Given the description of an element on the screen output the (x, y) to click on. 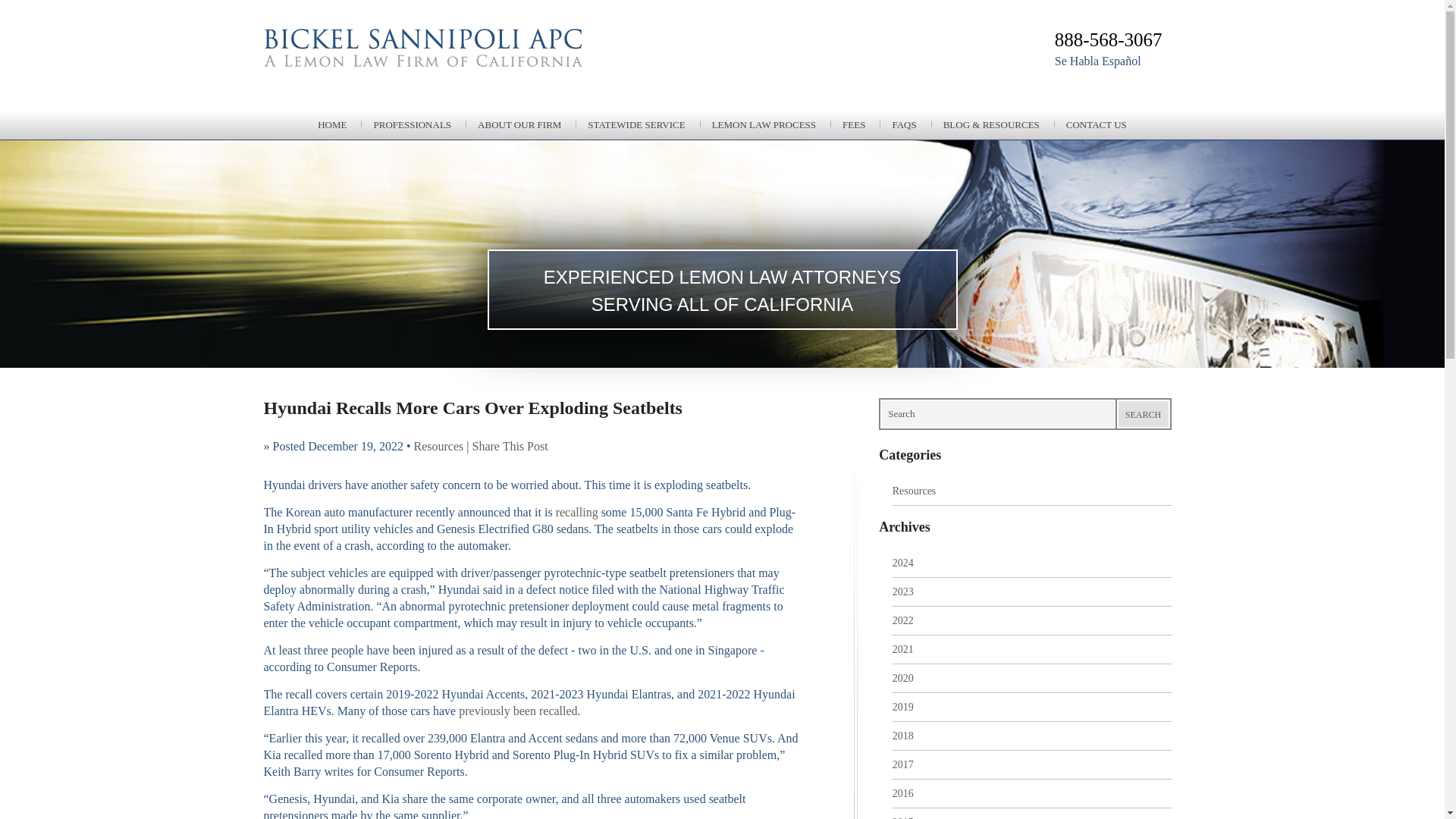
PROFESSIONALS (412, 124)
The Bickel Law Firm (487, 66)
888-568-3067 (1107, 40)
HOME (331, 124)
